Given the description of an element on the screen output the (x, y) to click on. 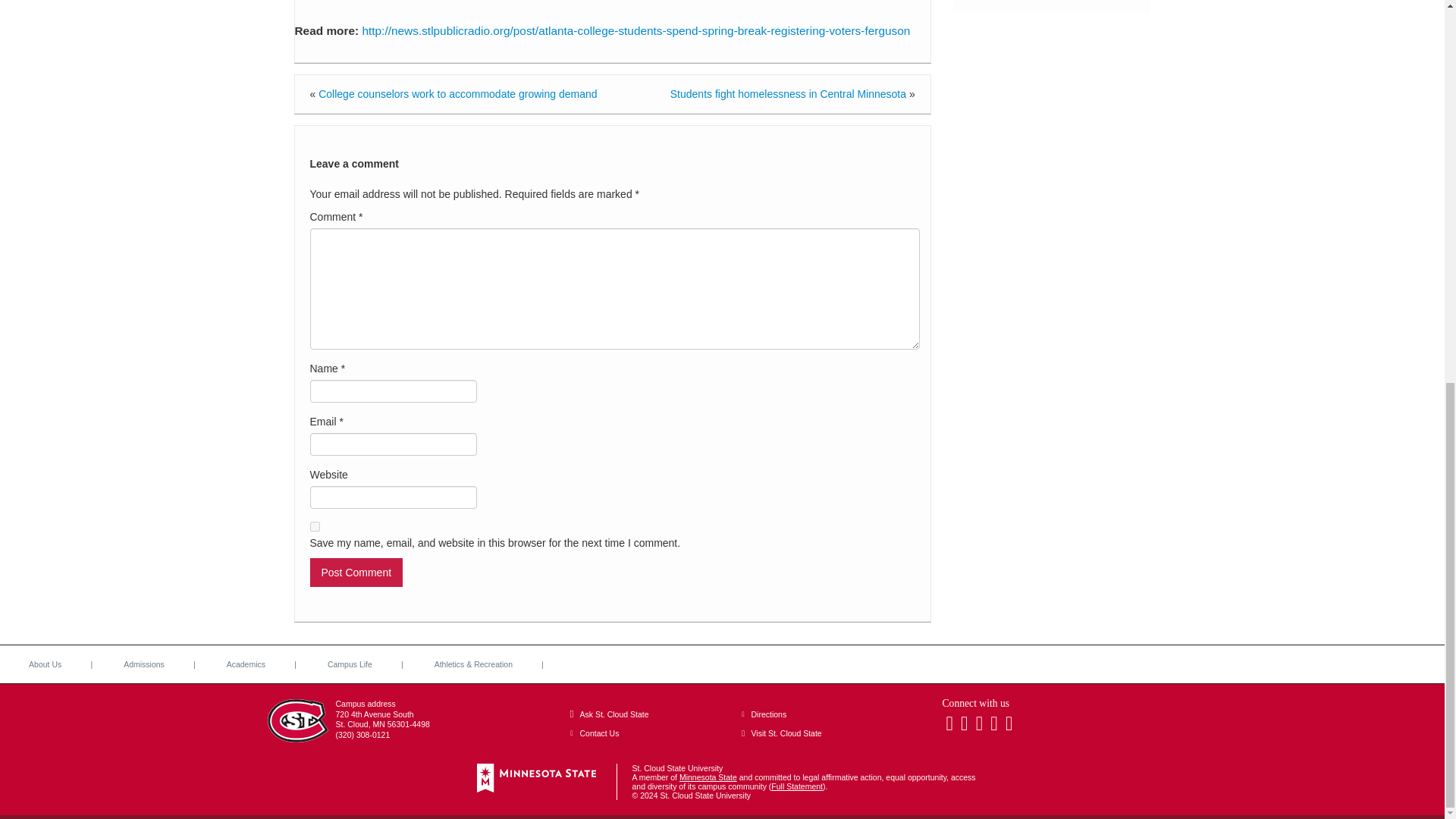
Post Comment (355, 572)
yes (313, 526)
